Given the description of an element on the screen output the (x, y) to click on. 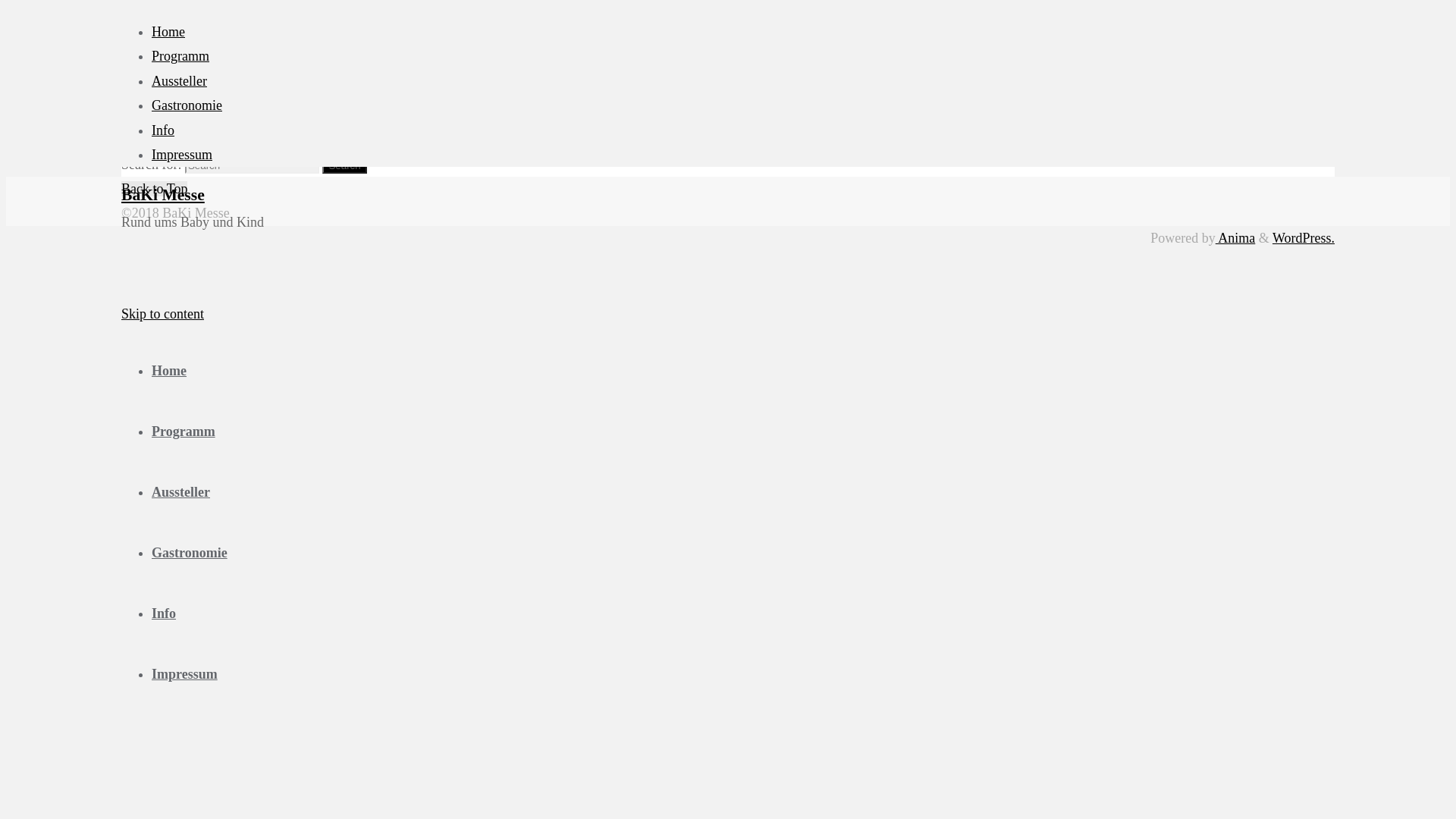
Back to Top Element type: text (154, 188)
Home Element type: text (168, 370)
BaKi Messe Element type: text (162, 194)
Home Element type: text (168, 31)
Programm Element type: text (183, 431)
Programm Element type: text (180, 55)
Skip to content Element type: text (162, 313)
Aussteller Element type: text (179, 80)
Search Element type: text (344, 165)
Gastronomie Element type: text (189, 552)
Anima Element type: text (1235, 237)
Info Element type: text (162, 130)
Impressum Element type: text (181, 154)
Gastronomie Element type: text (186, 104)
Impressum Element type: text (184, 673)
WordPress. Element type: text (1303, 237)
Aussteller Element type: text (180, 491)
Info Element type: text (163, 613)
